Given the description of an element on the screen output the (x, y) to click on. 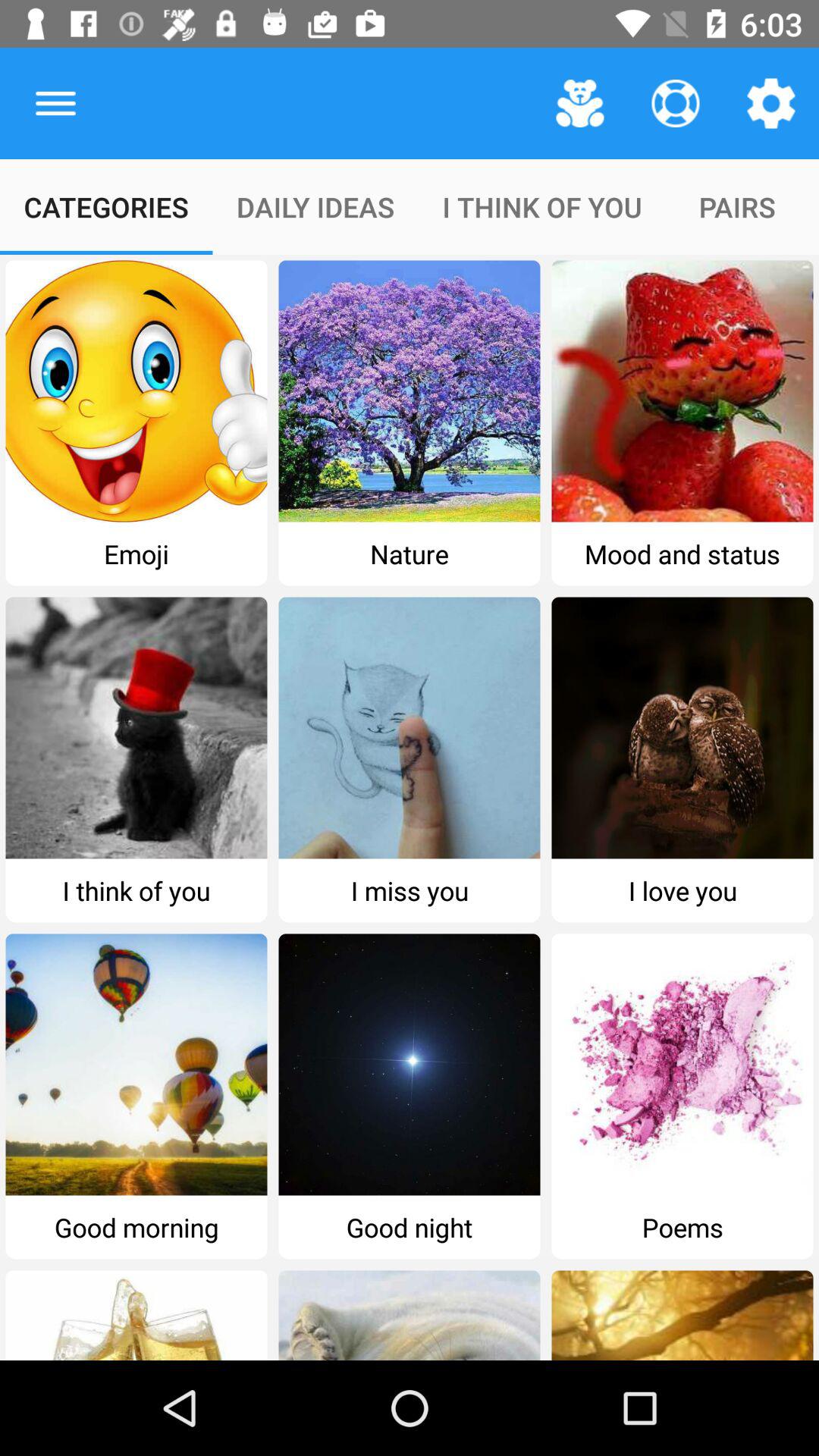
choose item to the left of (55, 103)
